Given the description of an element on the screen output the (x, y) to click on. 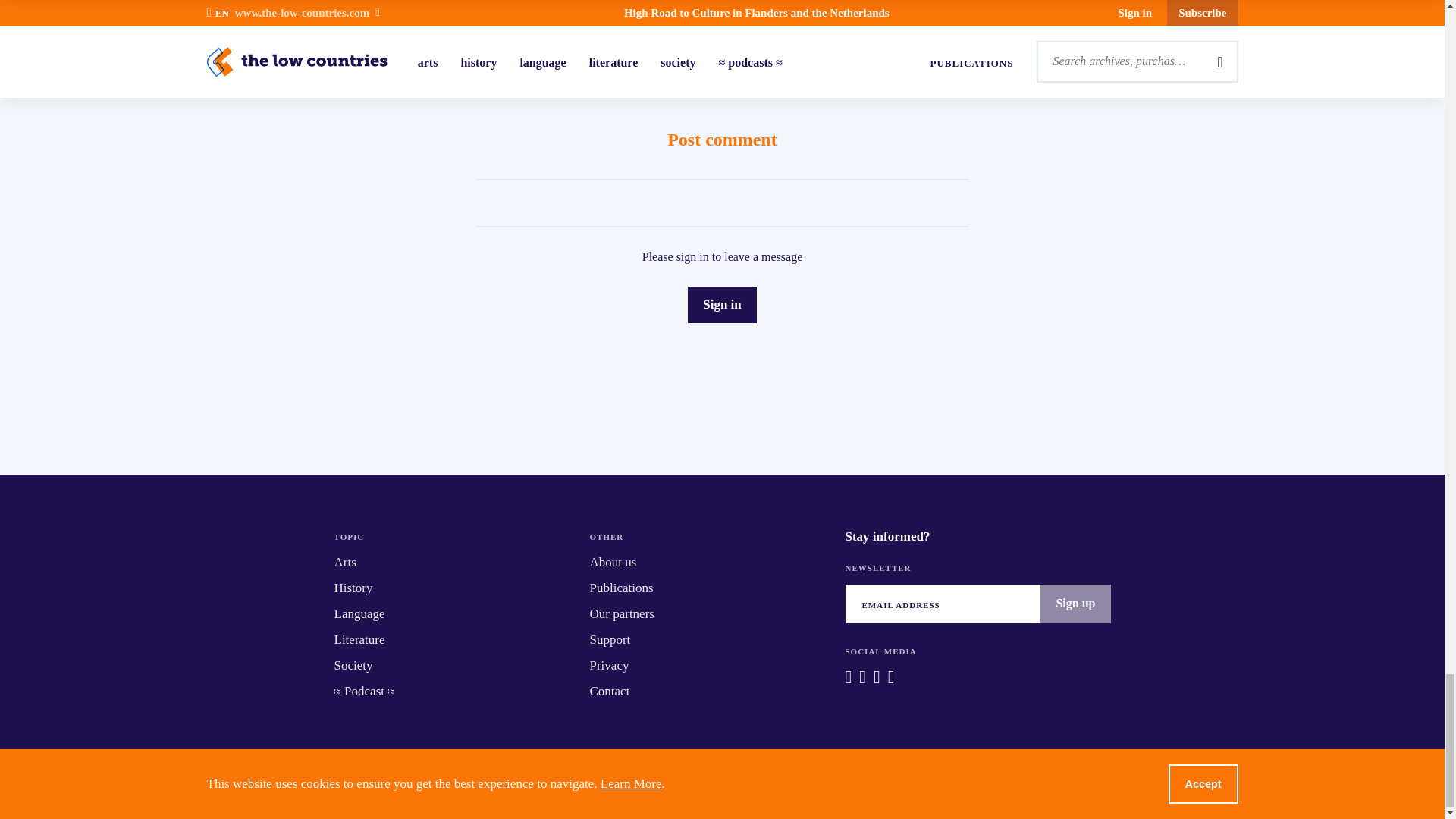
Sign up (1075, 603)
Logo-Flanders (605, 787)
Logo-ocw (857, 787)
Logo-ons-erfdeel-negatief (740, 787)
